Given the description of an element on the screen output the (x, y) to click on. 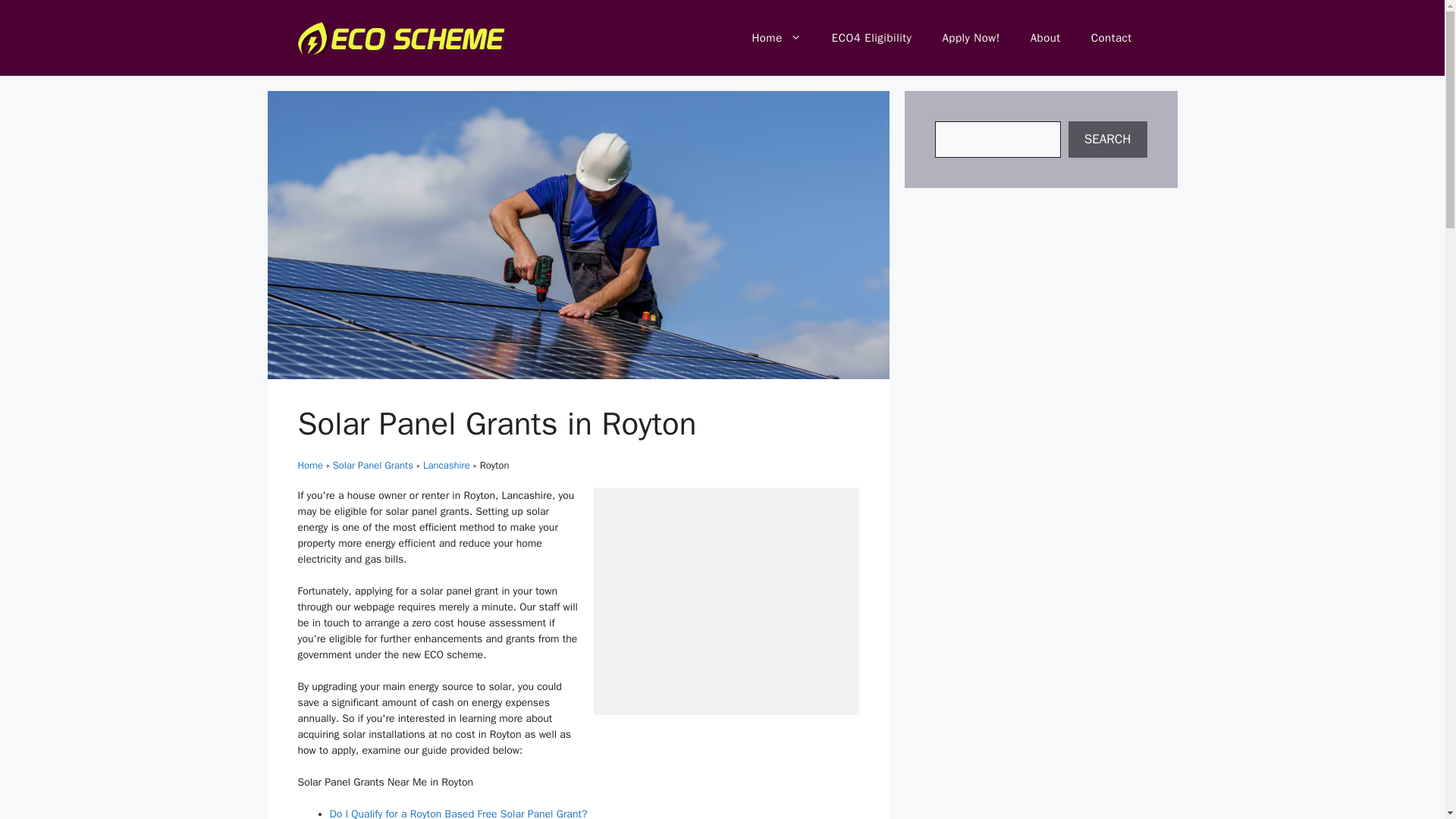
About (1044, 37)
Contact (1111, 37)
Home (309, 464)
Solar Panel Grants (373, 464)
Home (775, 37)
SEARCH (1107, 139)
ECO4 Eligibility (871, 37)
Lancashire (446, 464)
Do I Qualify for a Royton Based Free Solar Panel Grant? (457, 813)
Apply Now! (970, 37)
